Given the description of an element on the screen output the (x, y) to click on. 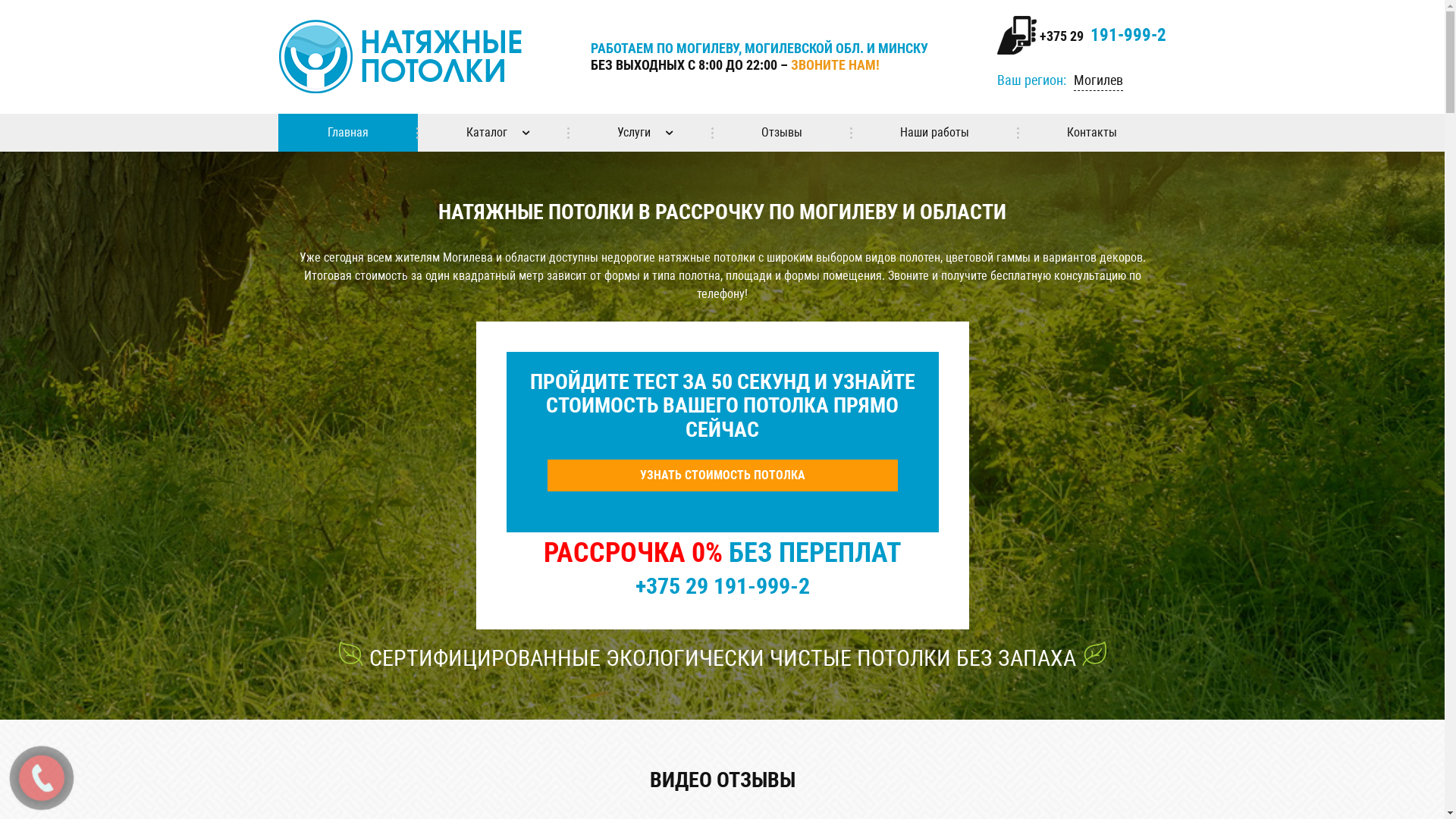
+375 29 191-999-2 Element type: text (722, 585)
+375 29 191-999-2 Element type: text (1100, 35)
